Given the description of an element on the screen output the (x, y) to click on. 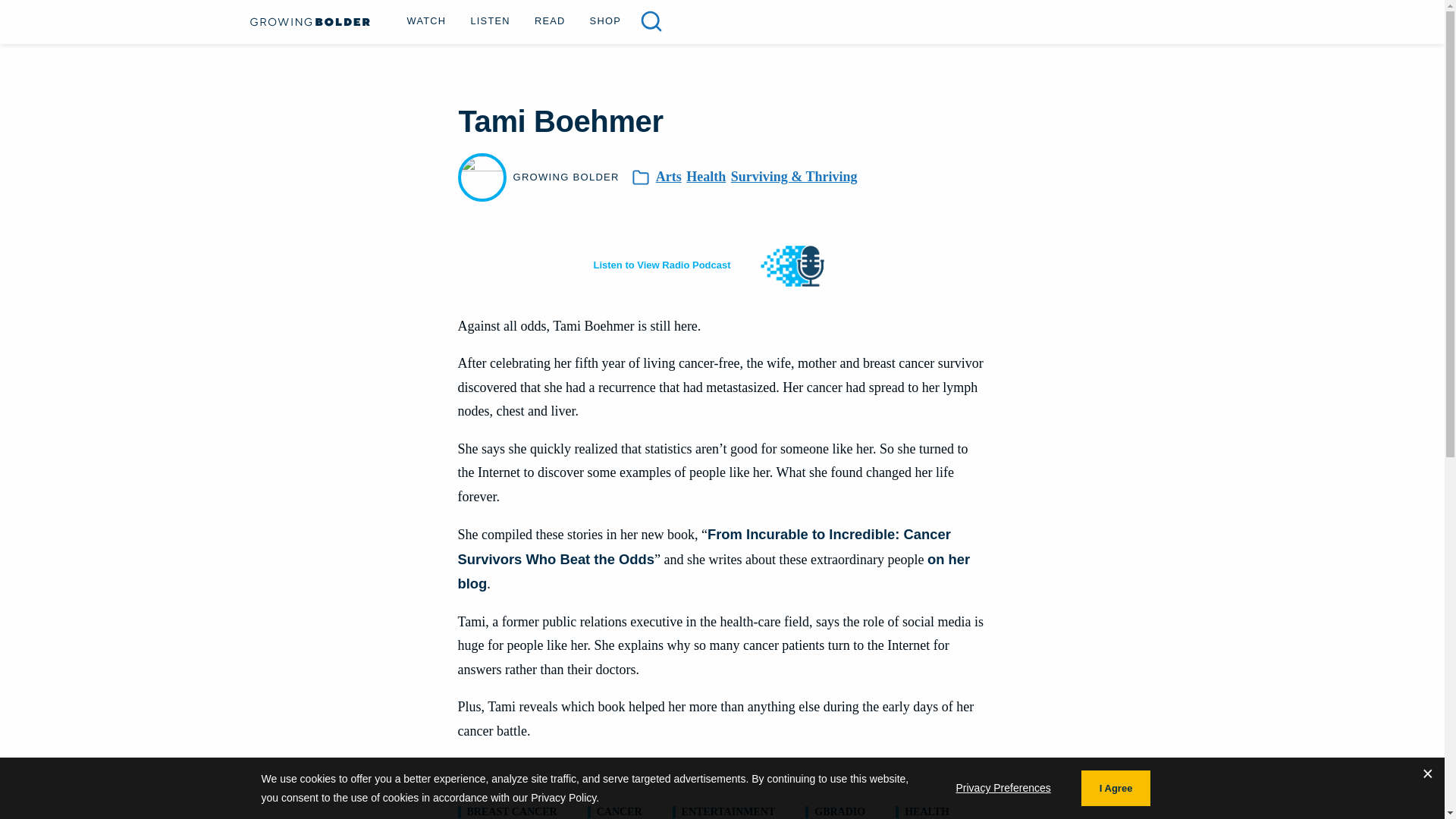
BREAST CANCER (512, 812)
on her blog (714, 571)
Search (39, 15)
Link to: cancer (619, 812)
SHOP (605, 20)
READ (550, 20)
WATCH (426, 20)
Link to: health (926, 812)
on her blog (714, 571)
Health (705, 177)
Arts (668, 177)
Link to: Health (705, 177)
Link to: breast cancer (512, 812)
Link to: Arts (668, 177)
